Given the description of an element on the screen output the (x, y) to click on. 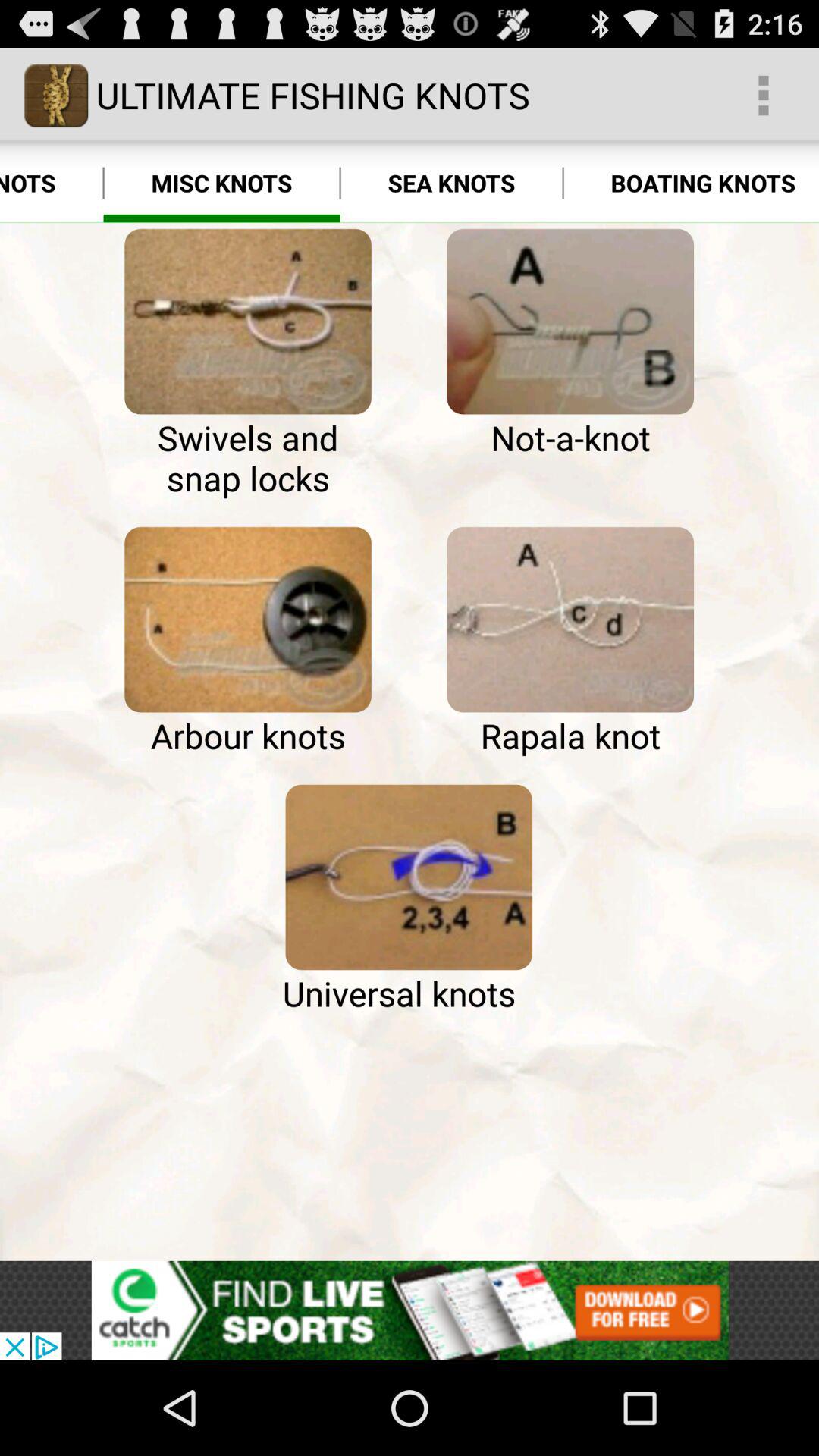
select the universal knots option (408, 876)
